Given the description of an element on the screen output the (x, y) to click on. 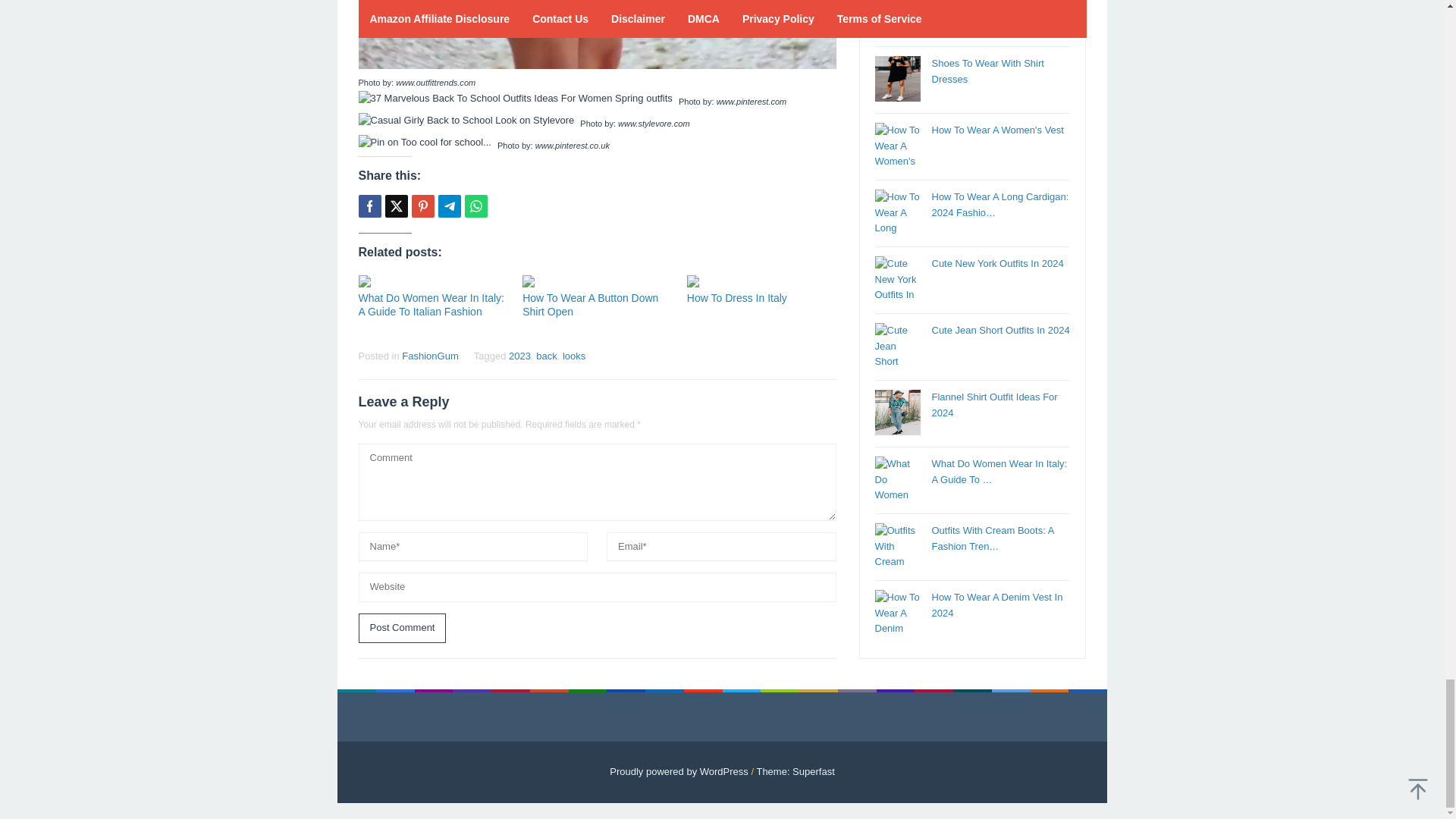
Whatsapp (475, 205)
FashionGum (429, 355)
How To Dress In Italy (737, 297)
How To Wear A Button Down Shirt Open (590, 304)
2023 (519, 355)
Permalink to: How To Dress In Italy (737, 297)
Tweet this (396, 205)
Permalink to: How To Wear A Button Down Shirt Open (596, 281)
Permalink to: How To Dress In Italy (761, 281)
Share this (369, 205)
